Given the description of an element on the screen output the (x, y) to click on. 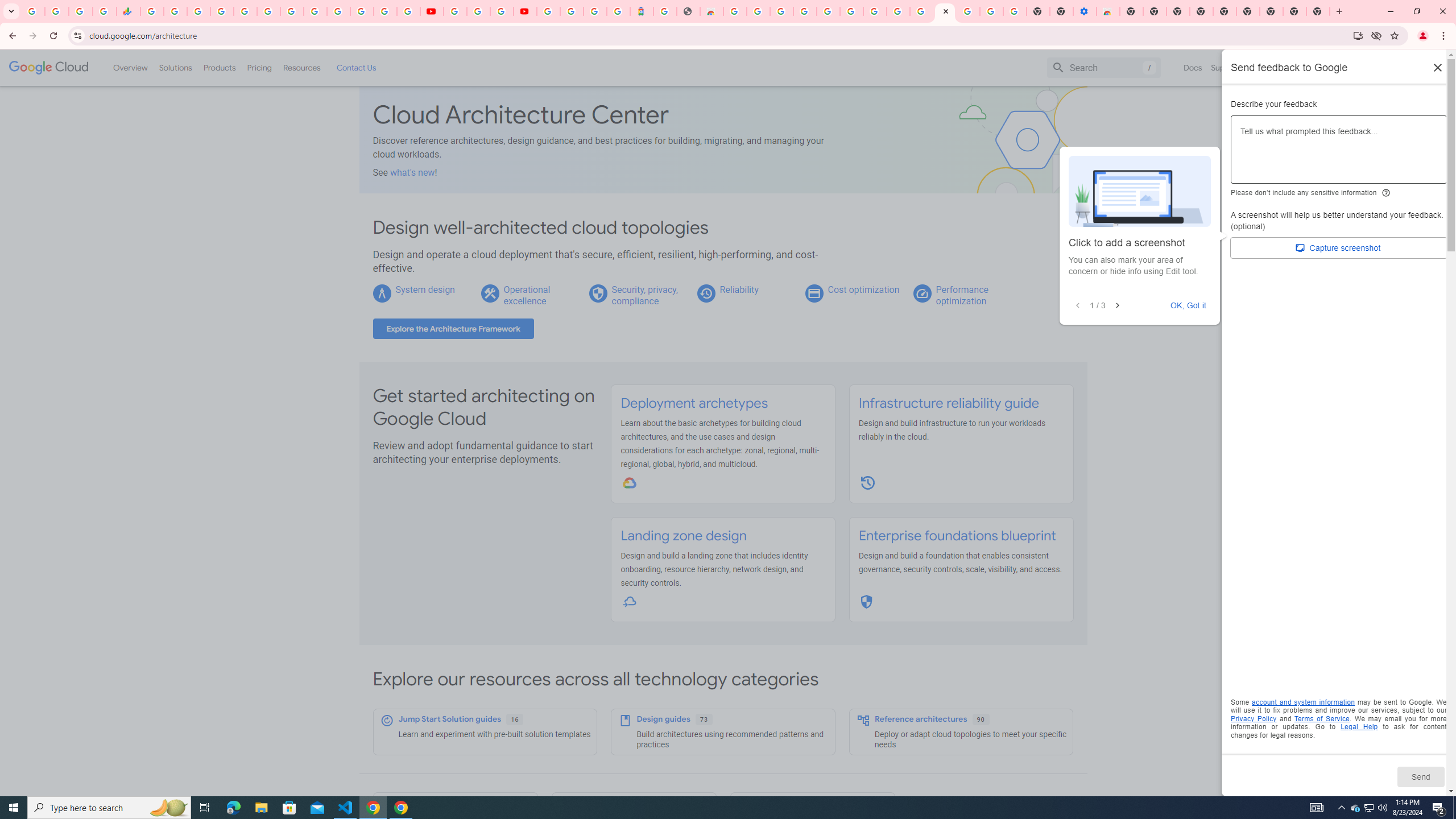
YouTube (314, 11)
Performance optimization (962, 295)
System design (424, 289)
YouTube (431, 11)
Sign in - Google Accounts (338, 11)
Send (1420, 776)
Sign in - Google Accounts (221, 11)
